Given the description of an element on the screen output the (x, y) to click on. 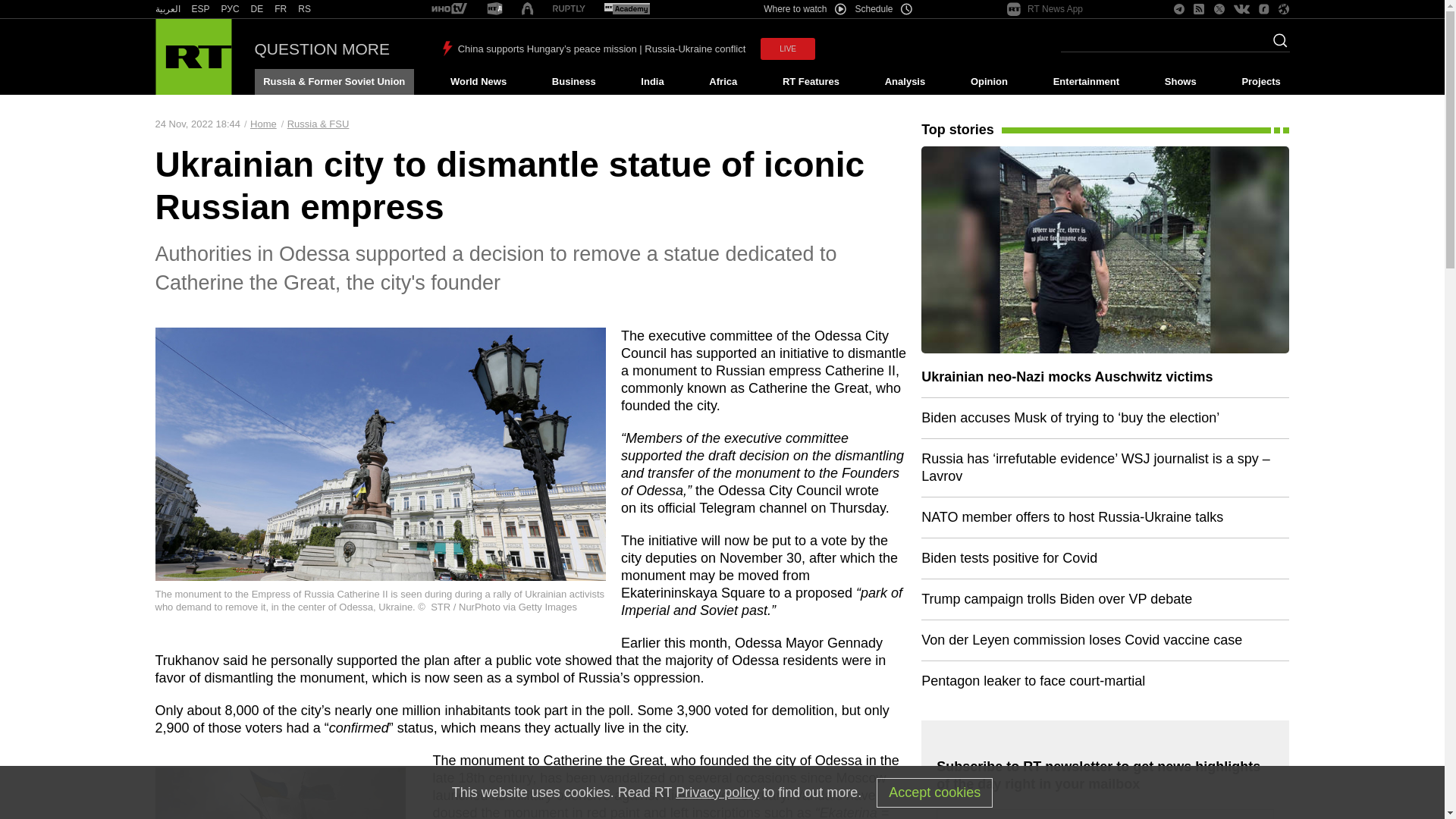
RT Features (810, 81)
Search (1276, 44)
QUESTION MORE (322, 48)
World News (478, 81)
LIVE (787, 48)
FR (280, 9)
RT  (304, 9)
RT  (280, 9)
DE (256, 9)
RT  (494, 9)
ESP (199, 9)
RS (304, 9)
RT  (569, 8)
Business (573, 81)
Search (1276, 44)
